Given the description of an element on the screen output the (x, y) to click on. 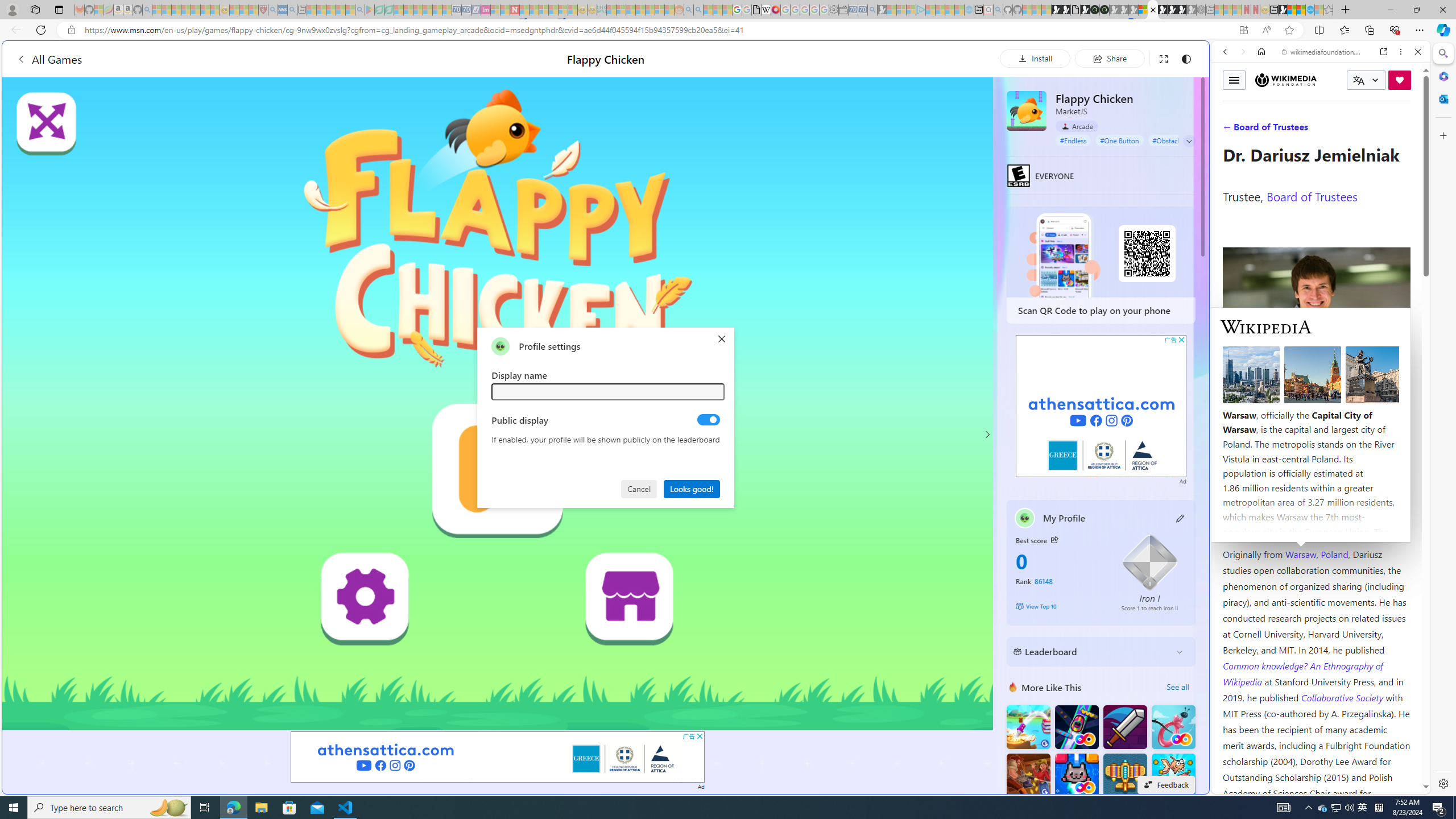
""'s avatar (500, 345)
CURRENT LANGUAGE: (1366, 80)
Services - Maintenance | Sky Blue Bikes - Sky Blue Bikes (1309, 9)
Target page - Wikipedia (766, 9)
Profile on Meta-Wiki (1273, 405)
Tabs you've opened (885, 151)
